Given the description of an element on the screen output the (x, y) to click on. 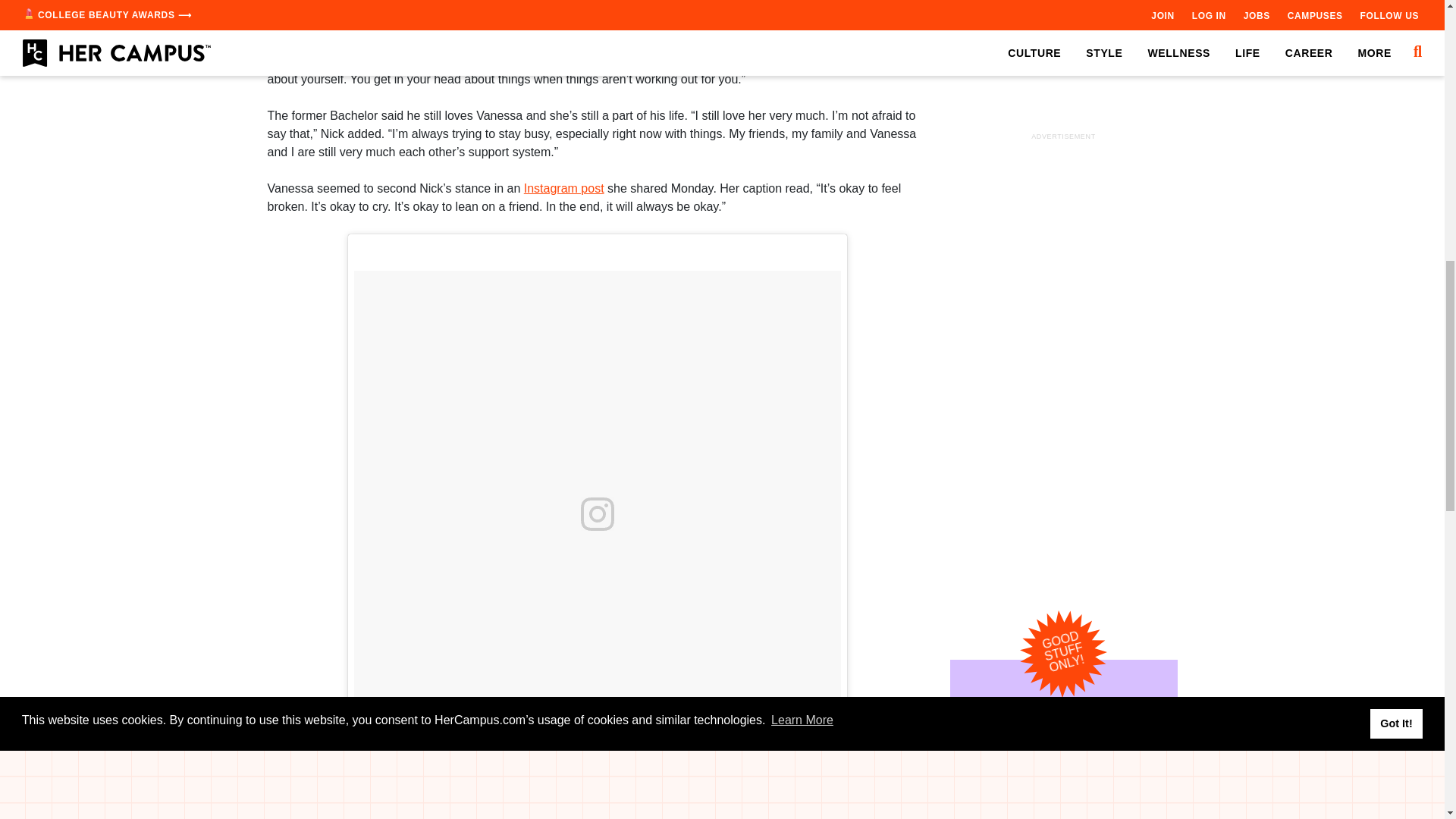
3rd party ad content (1062, 110)
